Given the description of an element on the screen output the (x, y) to click on. 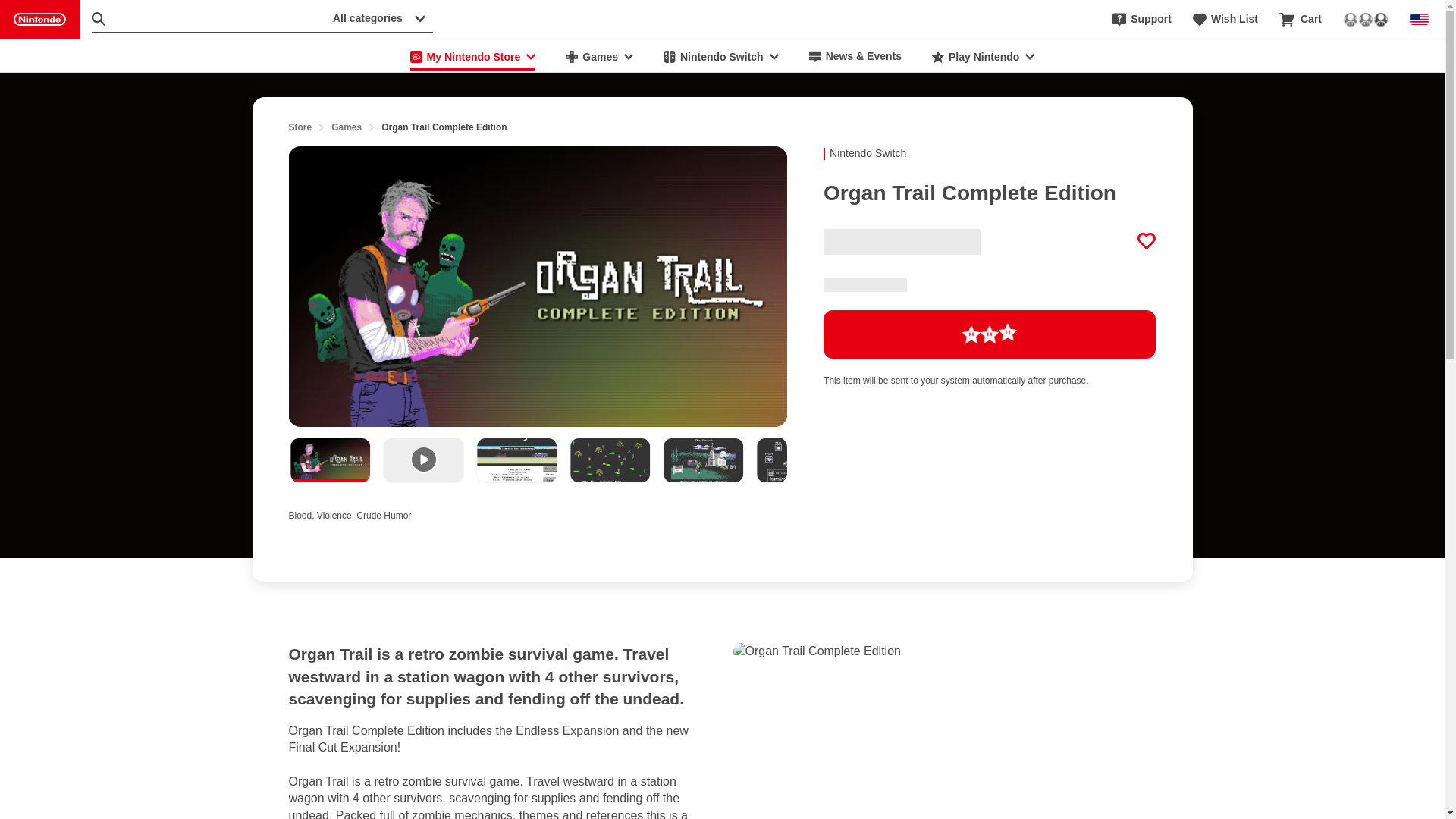
My Nintendo Store (472, 56)
Store (299, 127)
Add to Wish List (1146, 240)
Wish List (1224, 19)
Nintendo (40, 19)
Loading (990, 334)
Blood, Violence, Crude Humor (349, 513)
Cart (1300, 19)
Play Nintendo (983, 56)
Games (599, 56)
